Given the description of an element on the screen output the (x, y) to click on. 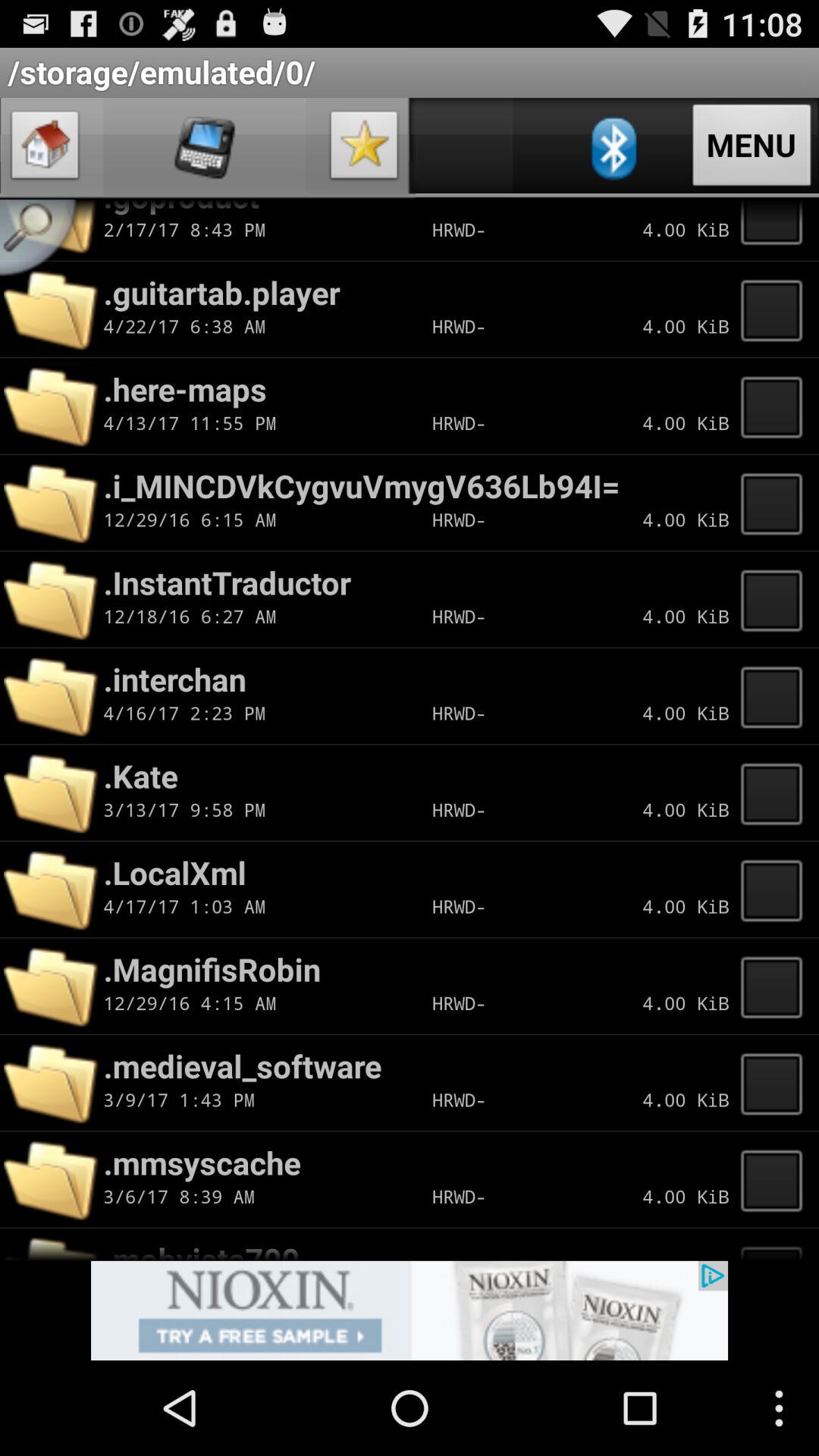
select this folder (776, 599)
